Given the description of an element on the screen output the (x, y) to click on. 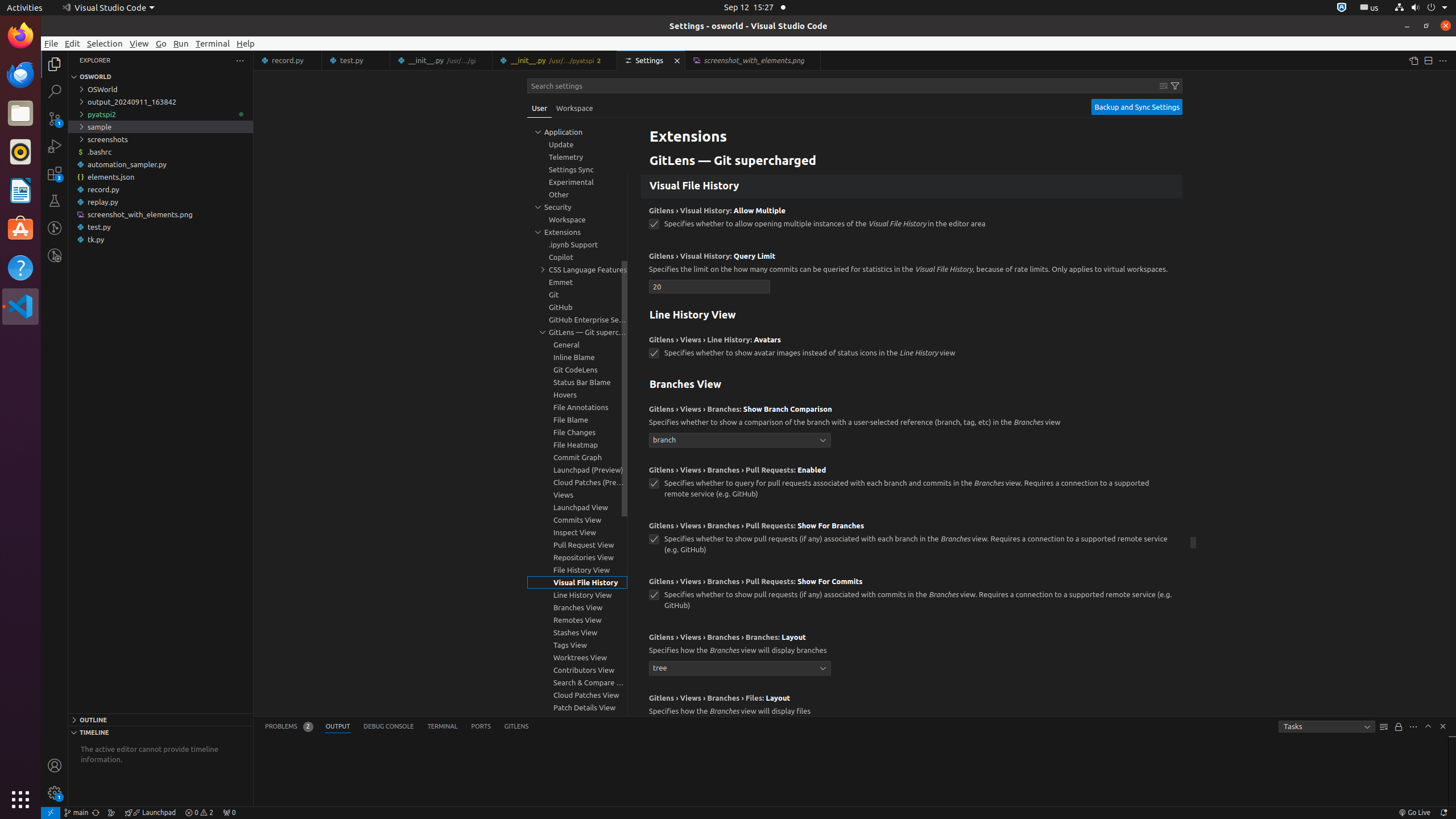
record.py Element type: page-tab (287, 60)
Inline Blame, group Element type: tree-item (577, 356)
Go Element type: push-button (161, 43)
gitlens.views.branches.pullRequests.enabled Element type: check-box (653, 483)
